Given the description of an element on the screen output the (x, y) to click on. 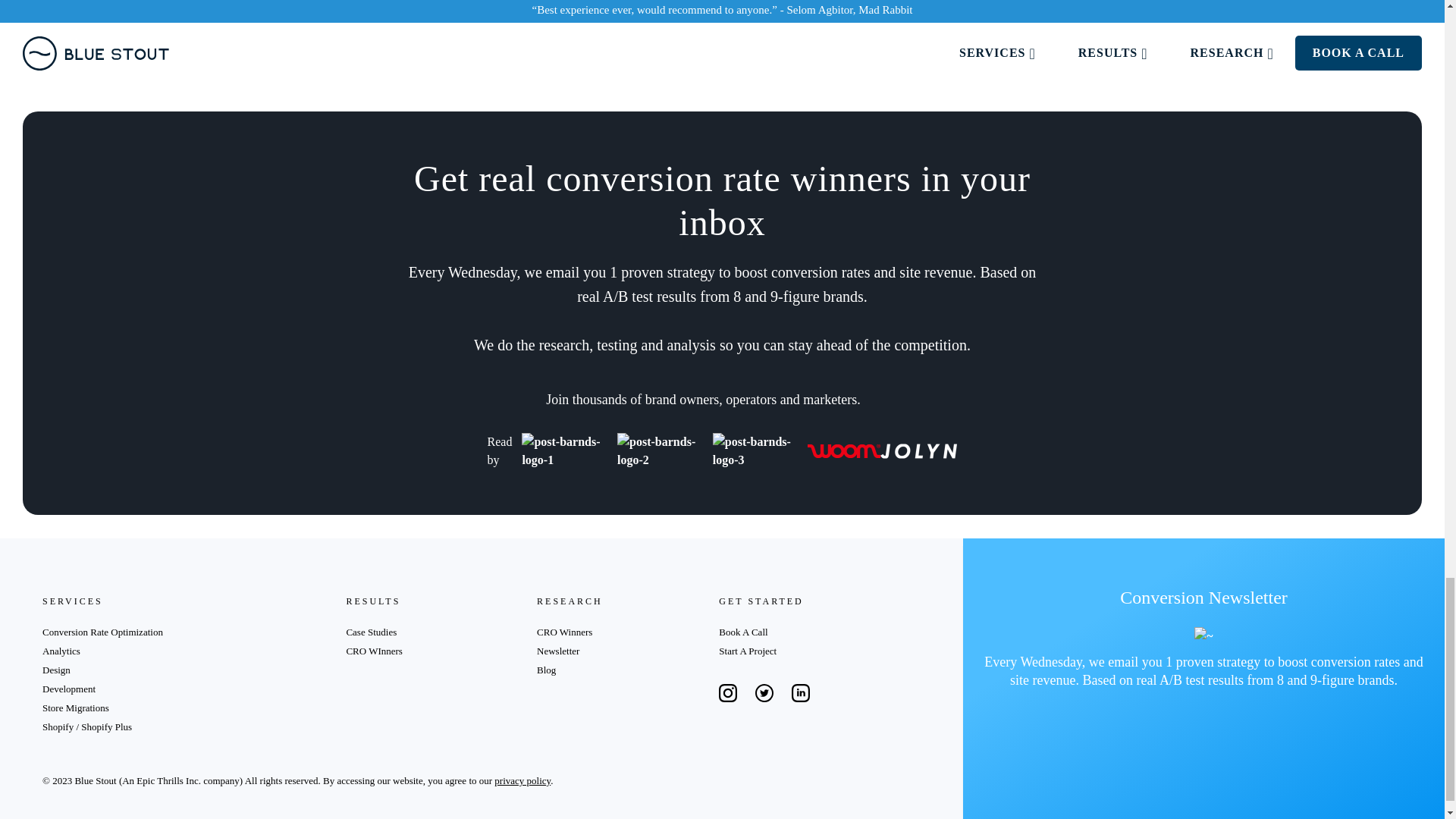
Store Migrations (75, 707)
CRO WInners (374, 650)
Conversion Rate Optimization (102, 632)
Analytics (61, 650)
Design (55, 669)
CRO Winners (564, 632)
Development (69, 688)
Case Studies (371, 632)
Newsletter (558, 650)
